Given the description of an element on the screen output the (x, y) to click on. 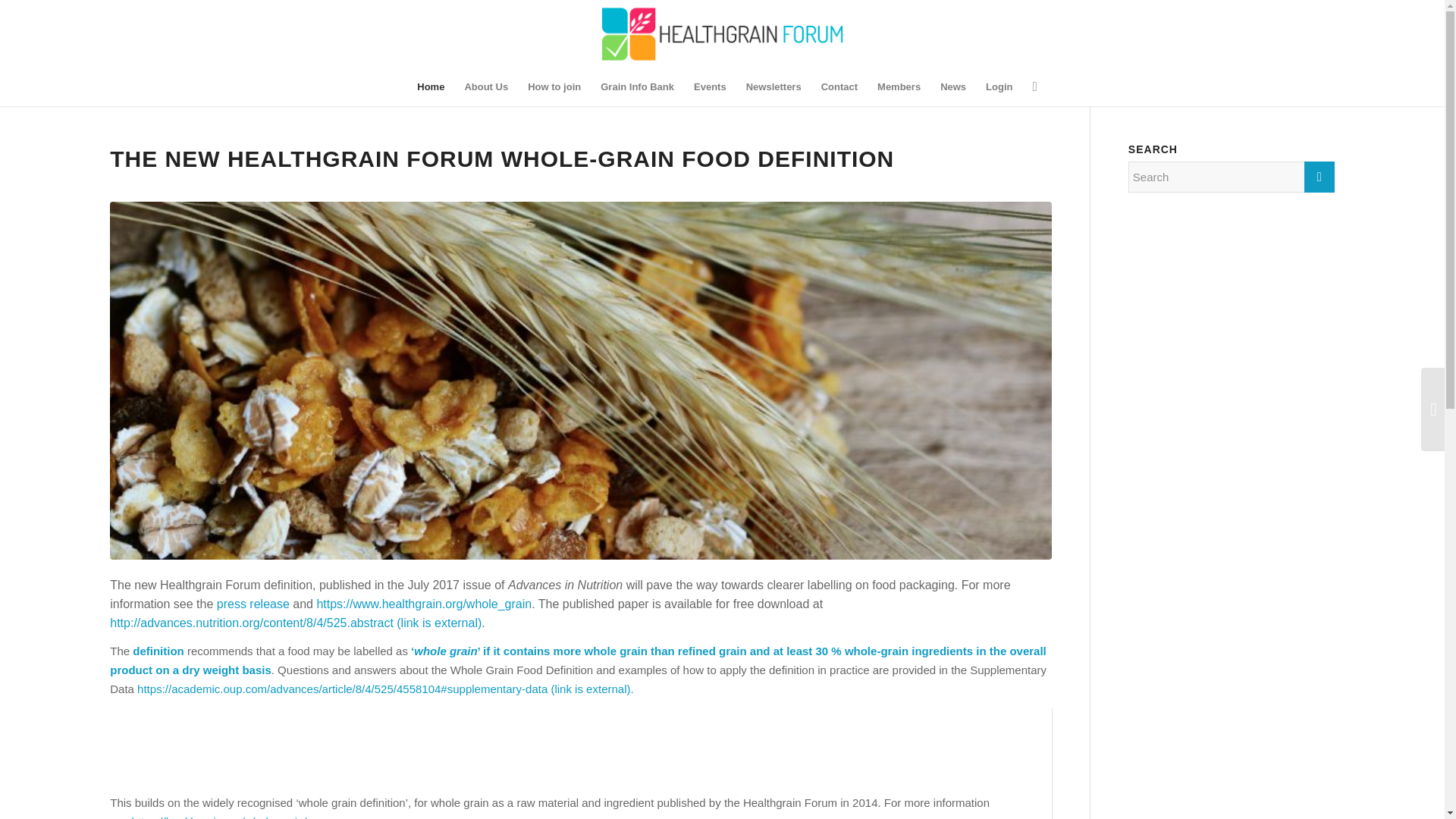
Newsletters (773, 86)
Login (998, 86)
How to join (554, 86)
Grain Info Bank (637, 86)
News (952, 86)
press release (252, 603)
Contact (838, 86)
Events (710, 86)
About Us (486, 86)
Home (430, 86)
Members (898, 86)
